Given the description of an element on the screen output the (x, y) to click on. 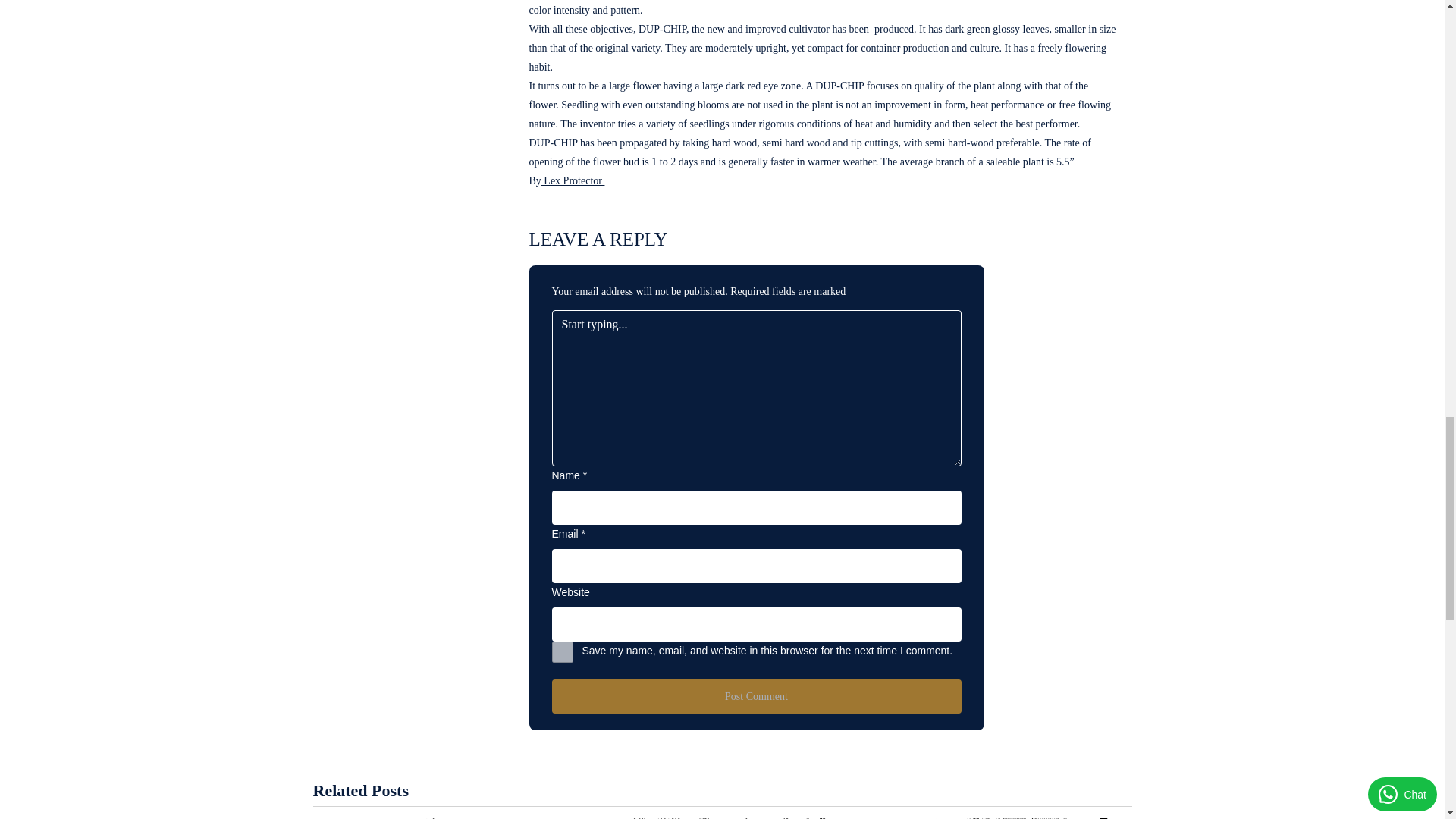
Post Comment (755, 696)
yes (562, 651)
